Given the description of an element on the screen output the (x, y) to click on. 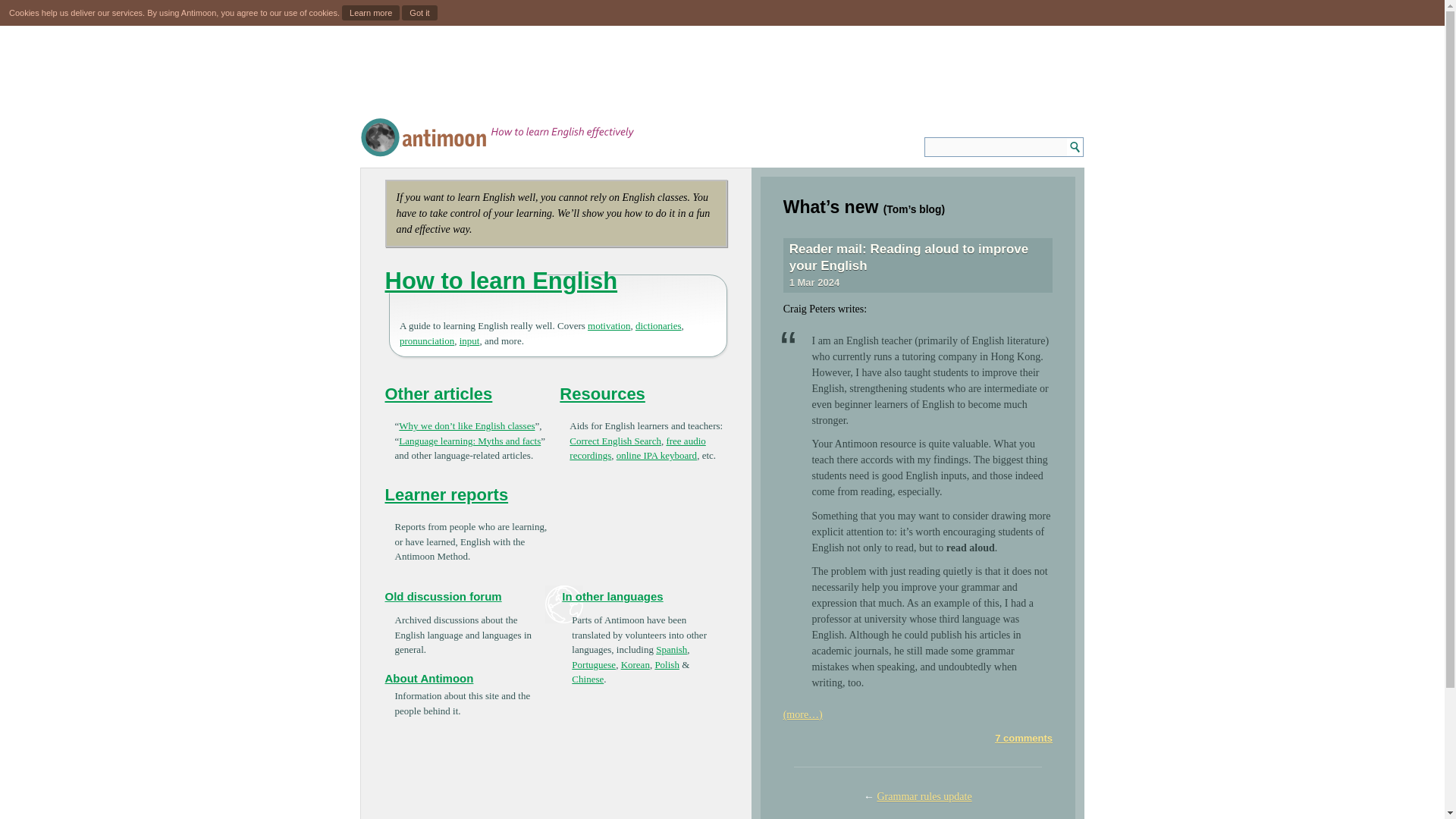
Learner reports (446, 494)
Got it (418, 12)
Learn more (370, 12)
Polish (666, 664)
Advertisement (721, 70)
Portuguese (593, 664)
Spanish (671, 649)
Chinese (588, 678)
Reader mail: Reading aloud to improve your English (909, 256)
Antimoon homepage (497, 137)
input (470, 340)
Old discussion forum (443, 595)
About Antimoon (429, 677)
motivation (609, 325)
